Given the description of an element on the screen output the (x, y) to click on. 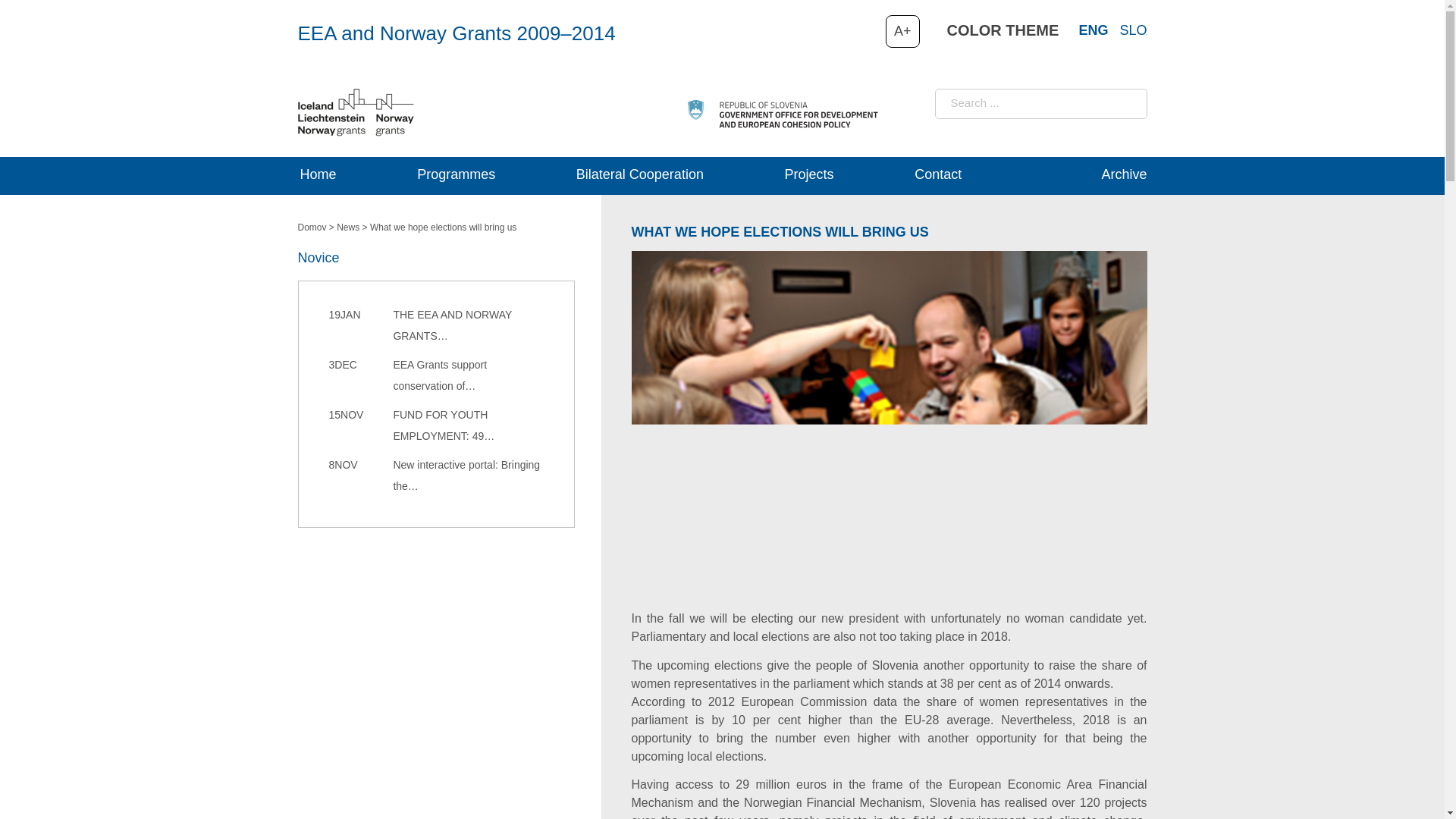
ENG (1093, 29)
Home (317, 175)
Bilateral Cooperation (639, 175)
Programmes (456, 175)
SLO (1133, 29)
Projects (809, 175)
